Given the description of an element on the screen output the (x, y) to click on. 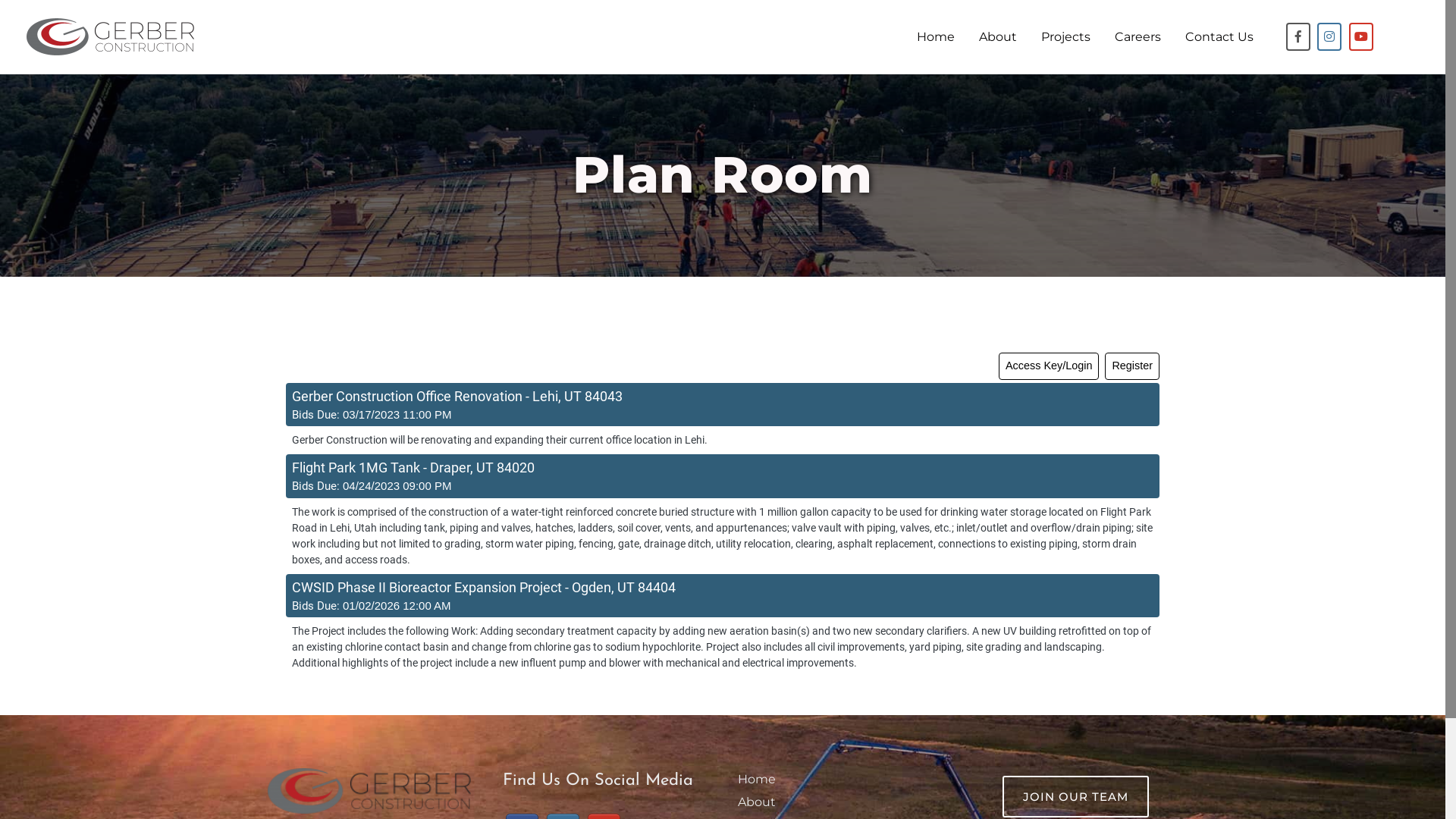
Access Key/Login Element type: text (1048, 365)
Home Element type: text (756, 778)
Projects Element type: text (1065, 36)
Careers Element type: text (1137, 36)
About Element type: text (756, 801)
Home Element type: text (935, 36)
JOIN OUR TEAM Element type: text (1075, 796)
Register Element type: text (1131, 365)
Contact Us Element type: text (1219, 36)
About Element type: text (997, 36)
